Given the description of an element on the screen output the (x, y) to click on. 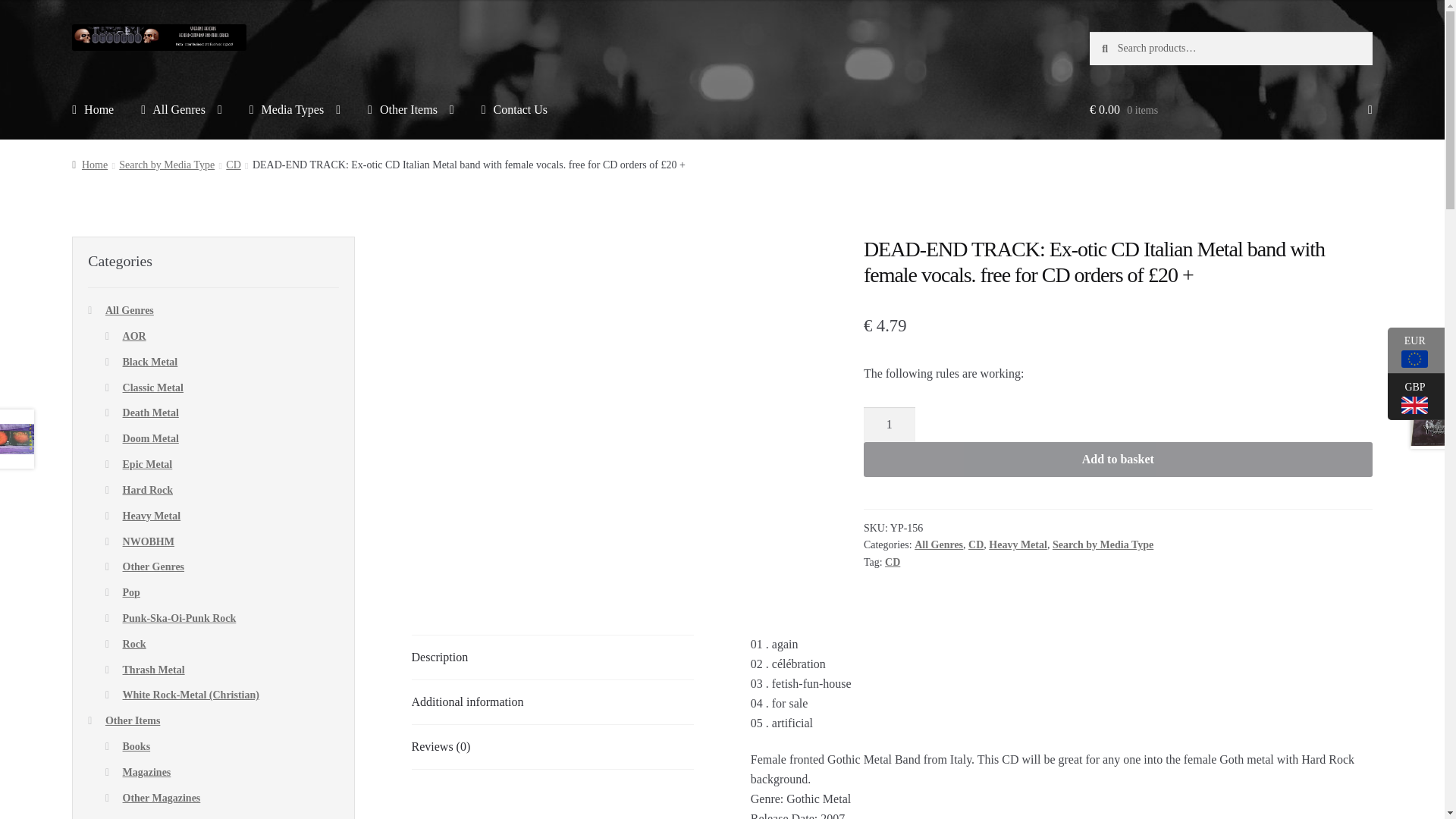
All Genres (181, 109)
Media Types (294, 109)
Qty (889, 424)
View your shopping basket (1231, 109)
Home (92, 109)
1 (889, 424)
